Given the description of an element on the screen output the (x, y) to click on. 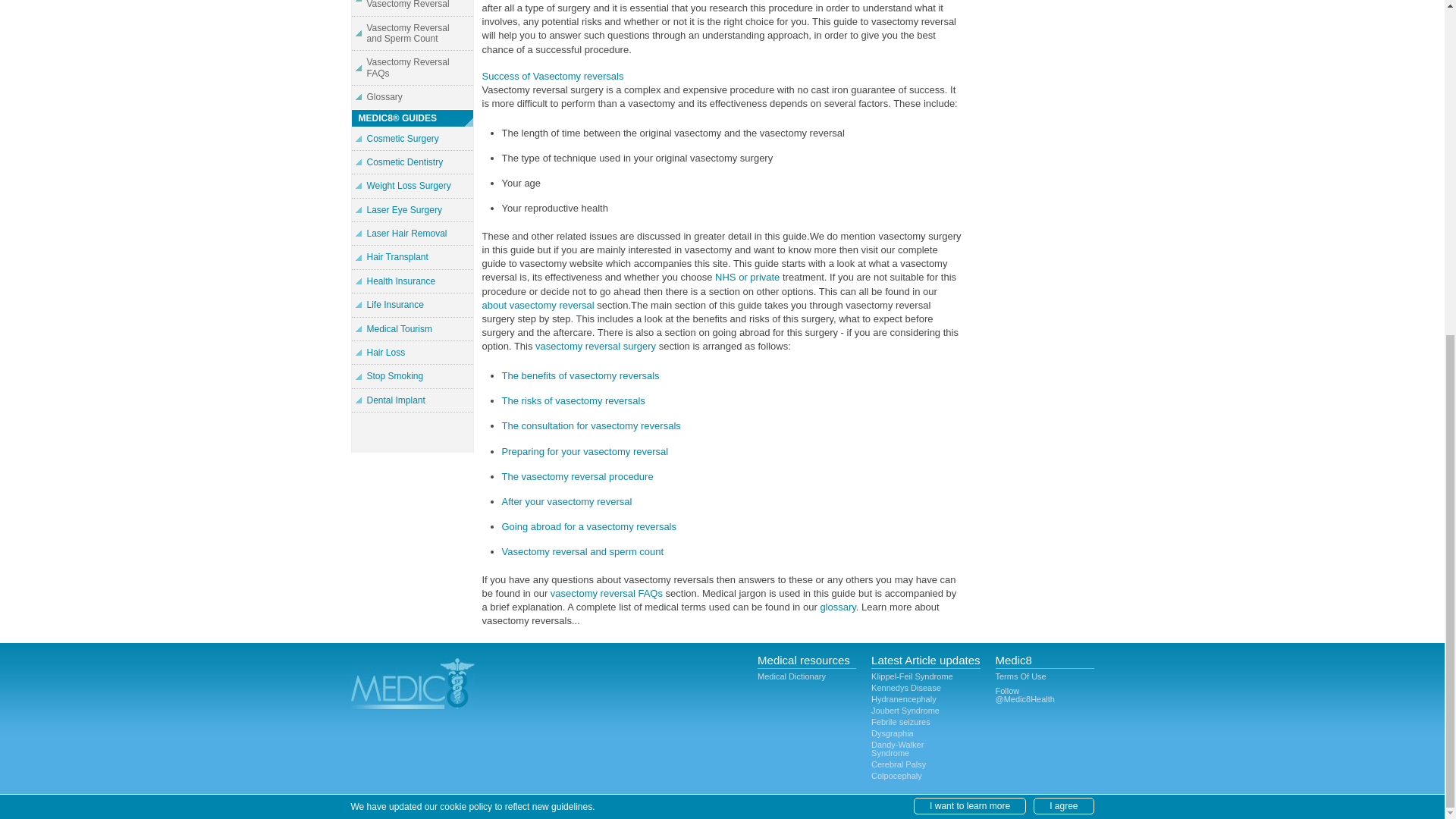
Going Abroad for a Vasectomy Reversal (412, 7)
Cosmetic Dentistry (412, 161)
Glossary (412, 96)
The consultation for vasectomy reversals (591, 425)
NHS or private (746, 276)
Going abroad for a vasectomy reversals (589, 526)
The risks of vasectomy reversals (573, 400)
glossary (837, 606)
Vasectomy Reversal FAQs (412, 67)
Vasectomy Reversal and Sperm Count (412, 33)
After your vasectomy reversal (566, 501)
Glossary (412, 96)
about vasectomy reversal (537, 305)
The benefits of vasectomy reversals (580, 375)
Vasectomy reversal and sperm count (582, 551)
